Given the description of an element on the screen output the (x, y) to click on. 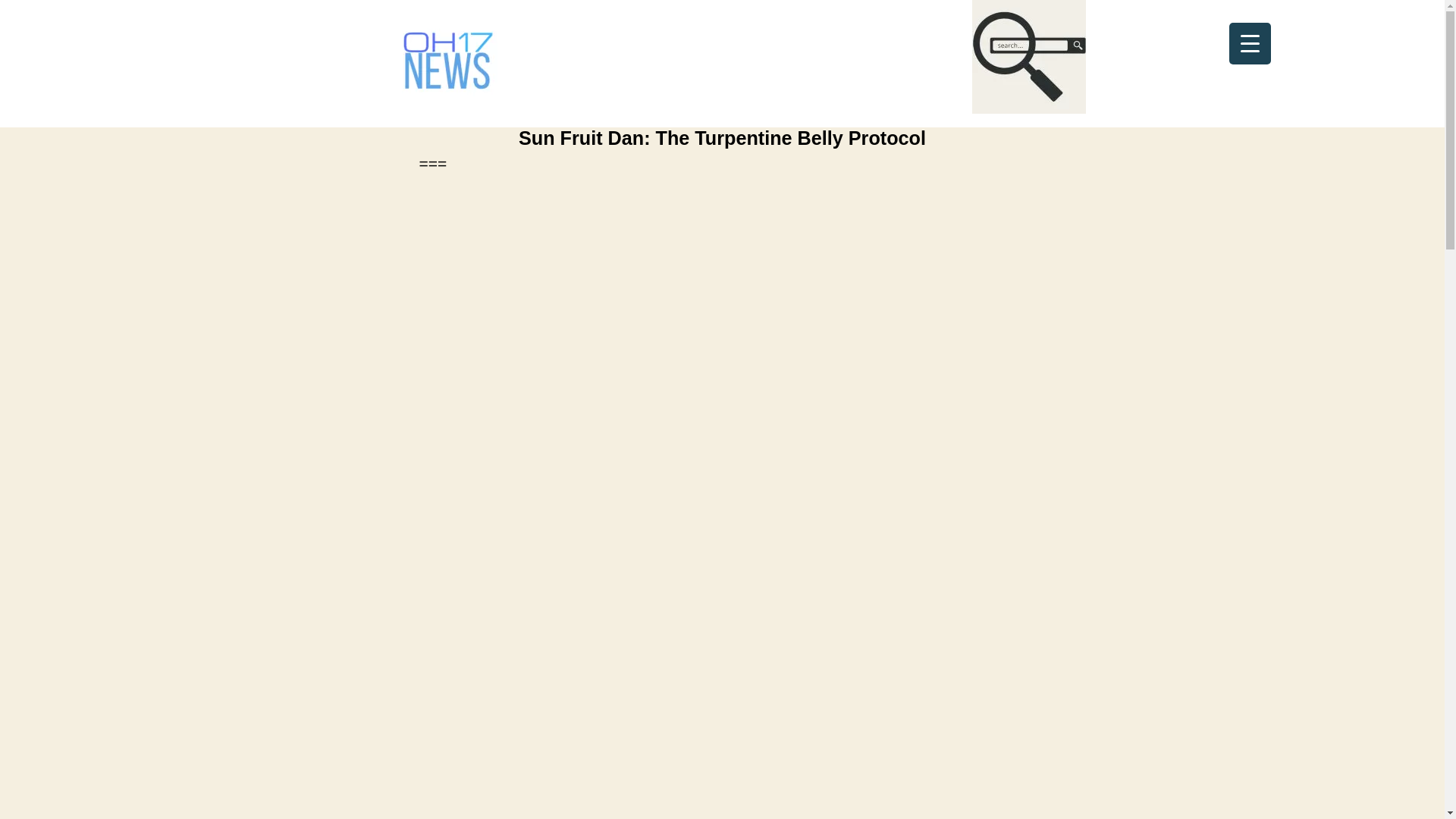
CEA3A888-57CE-4C6A-A089-2C74912723E5 (1029, 56)
